Given the description of an element on the screen output the (x, y) to click on. 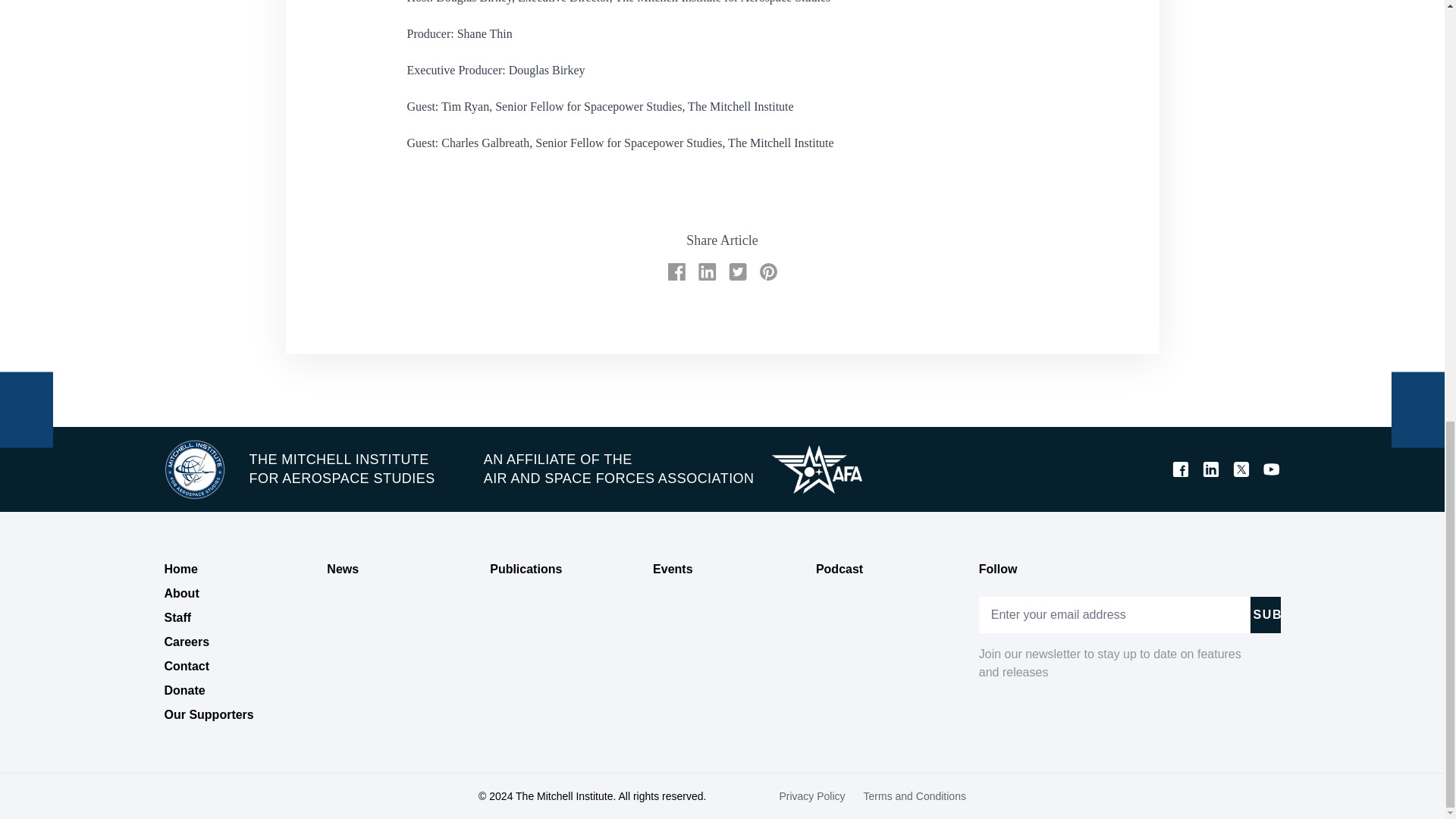
Subscribe (1264, 615)
